Given the description of an element on the screen output the (x, y) to click on. 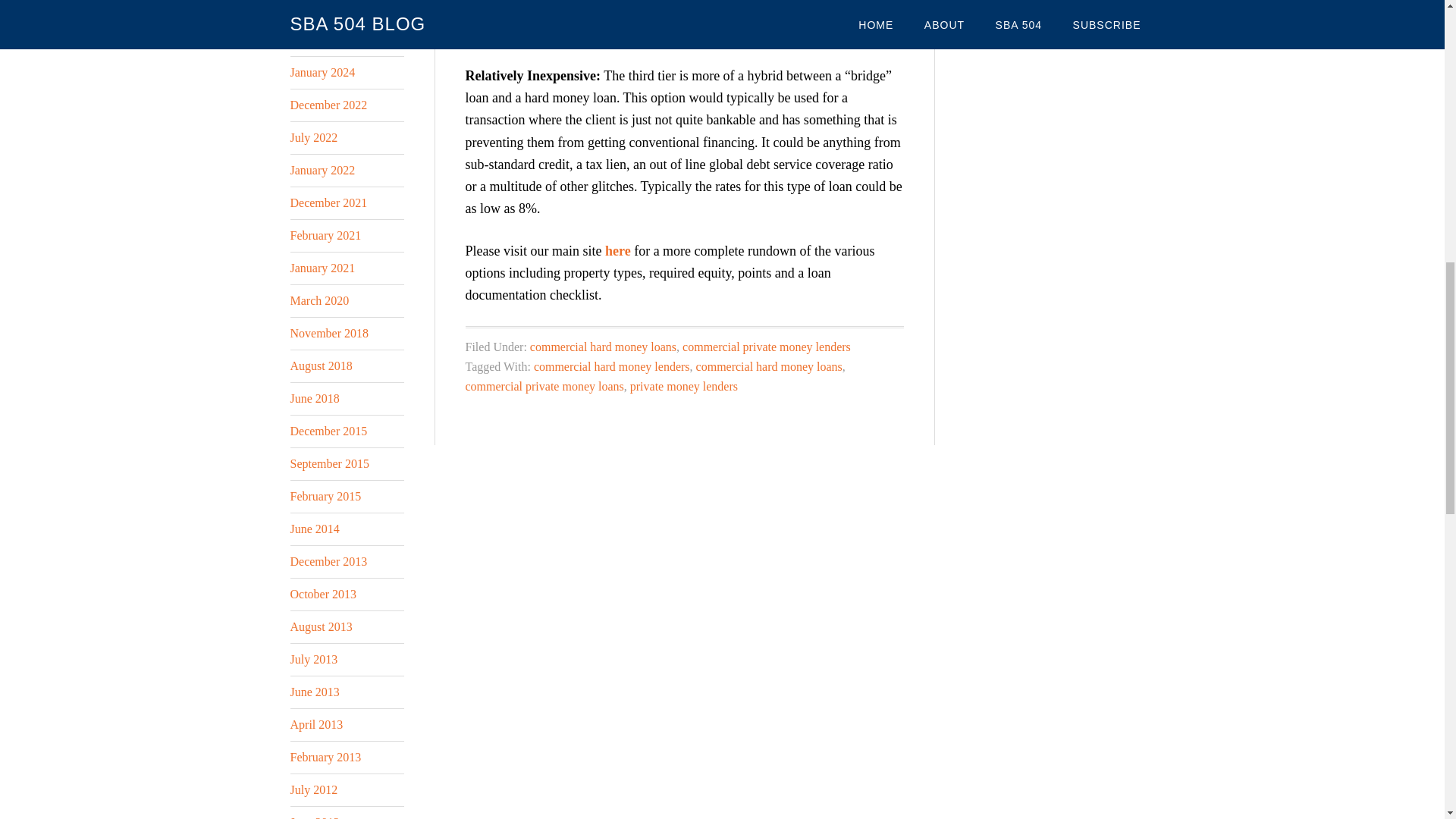
commercial hard money lenders (612, 366)
June 2024 (314, 39)
commercial hard money loans (769, 366)
July 2024 (313, 6)
January 2022 (322, 169)
December 2021 (327, 202)
commercial private money loans (544, 386)
Commercial Hard Money Loans (617, 250)
commercial hard money loans (603, 346)
commercial private money lenders (766, 346)
